Given the description of an element on the screen output the (x, y) to click on. 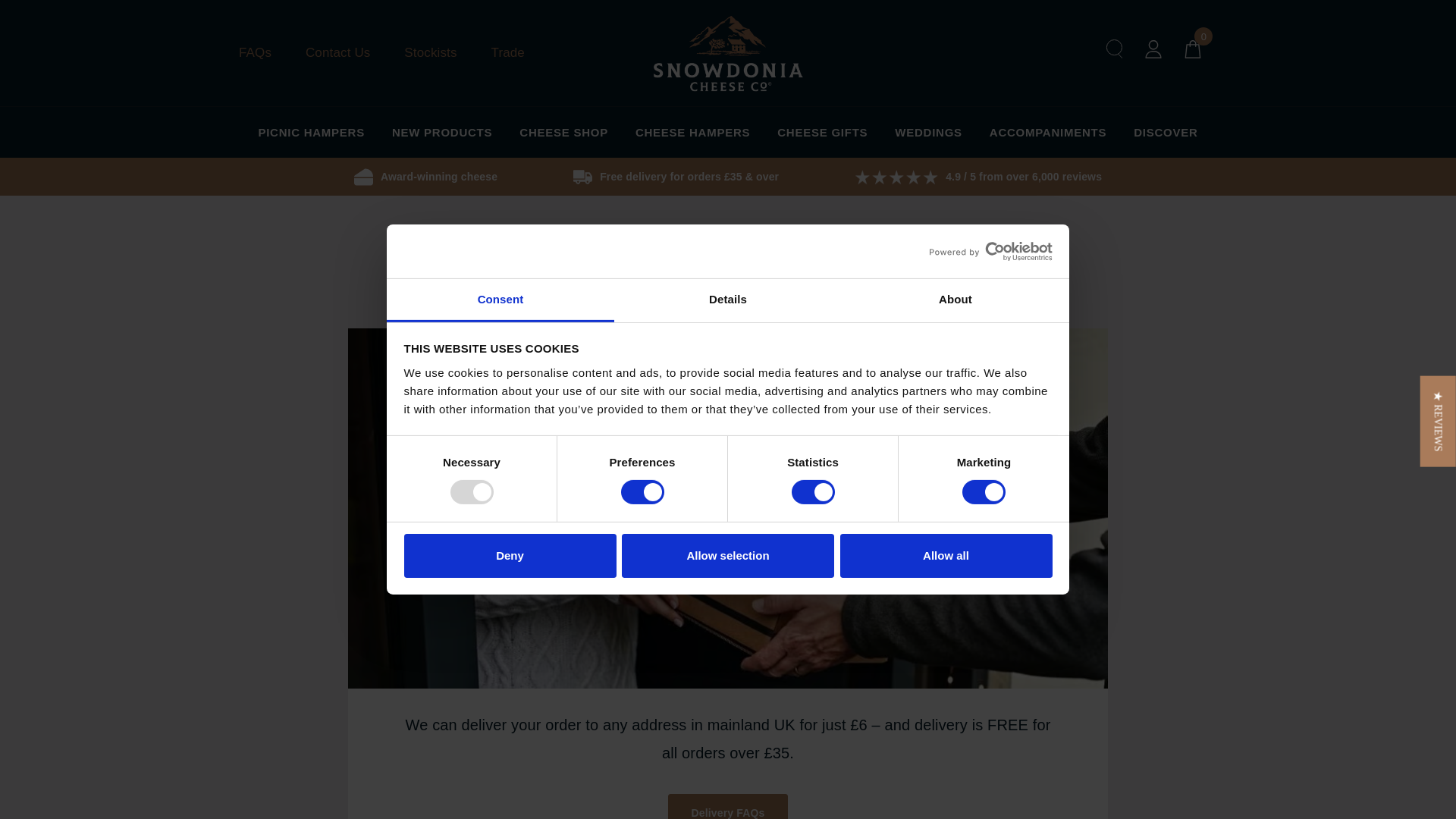
Consent (500, 300)
About (954, 300)
Details (727, 300)
